Given the description of an element on the screen output the (x, y) to click on. 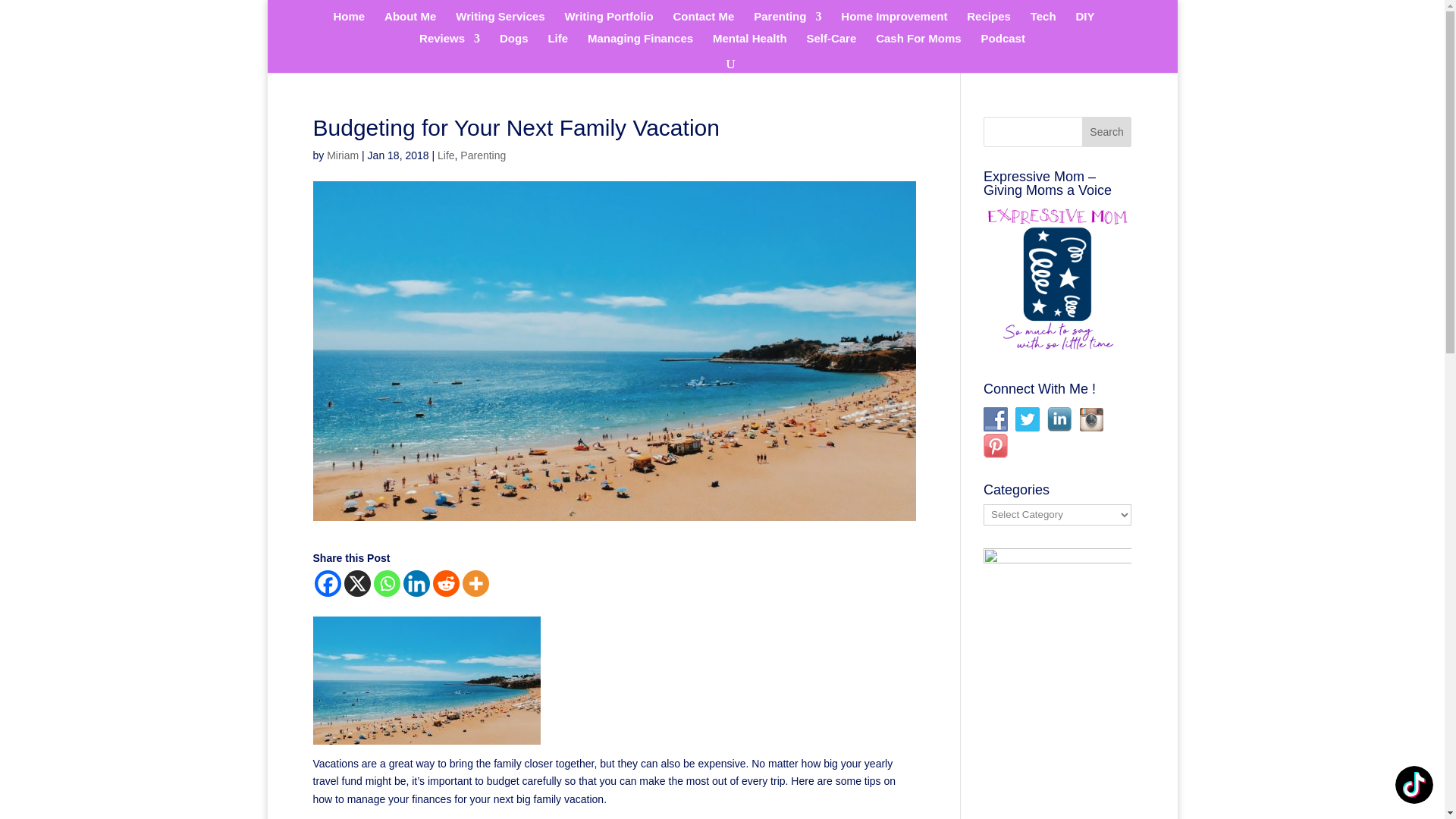
Life (557, 44)
Search (1106, 132)
Parenting (787, 22)
Home (349, 22)
Home Improvement (894, 22)
Contact Me (703, 22)
Whatsapp (385, 583)
Miriam (342, 155)
Reddit (445, 583)
X (357, 583)
Mental Health (750, 44)
Recipes (988, 22)
Self-Care (831, 44)
Linkedin (416, 583)
Dogs (513, 44)
